Given the description of an element on the screen output the (x, y) to click on. 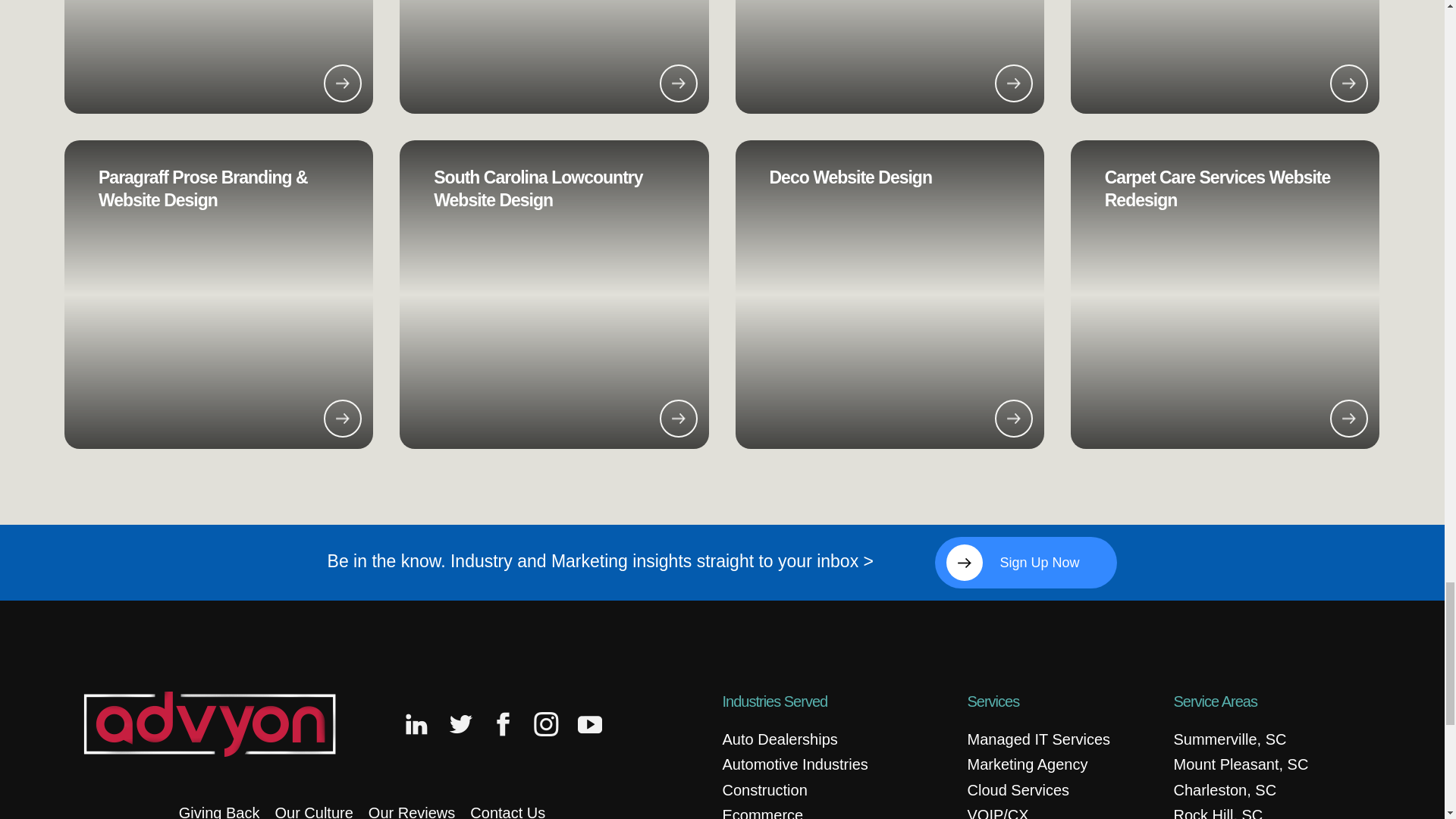
South Carolina Lowcountry Website Design (552, 294)
Flowertown Players Website Design (889, 56)
Deco Website Design (889, 294)
Deco Website Design (849, 177)
Geodesicx Redesigned Website (1224, 56)
South Carolina Lowcountry Website Design (537, 188)
